Given the description of an element on the screen output the (x, y) to click on. 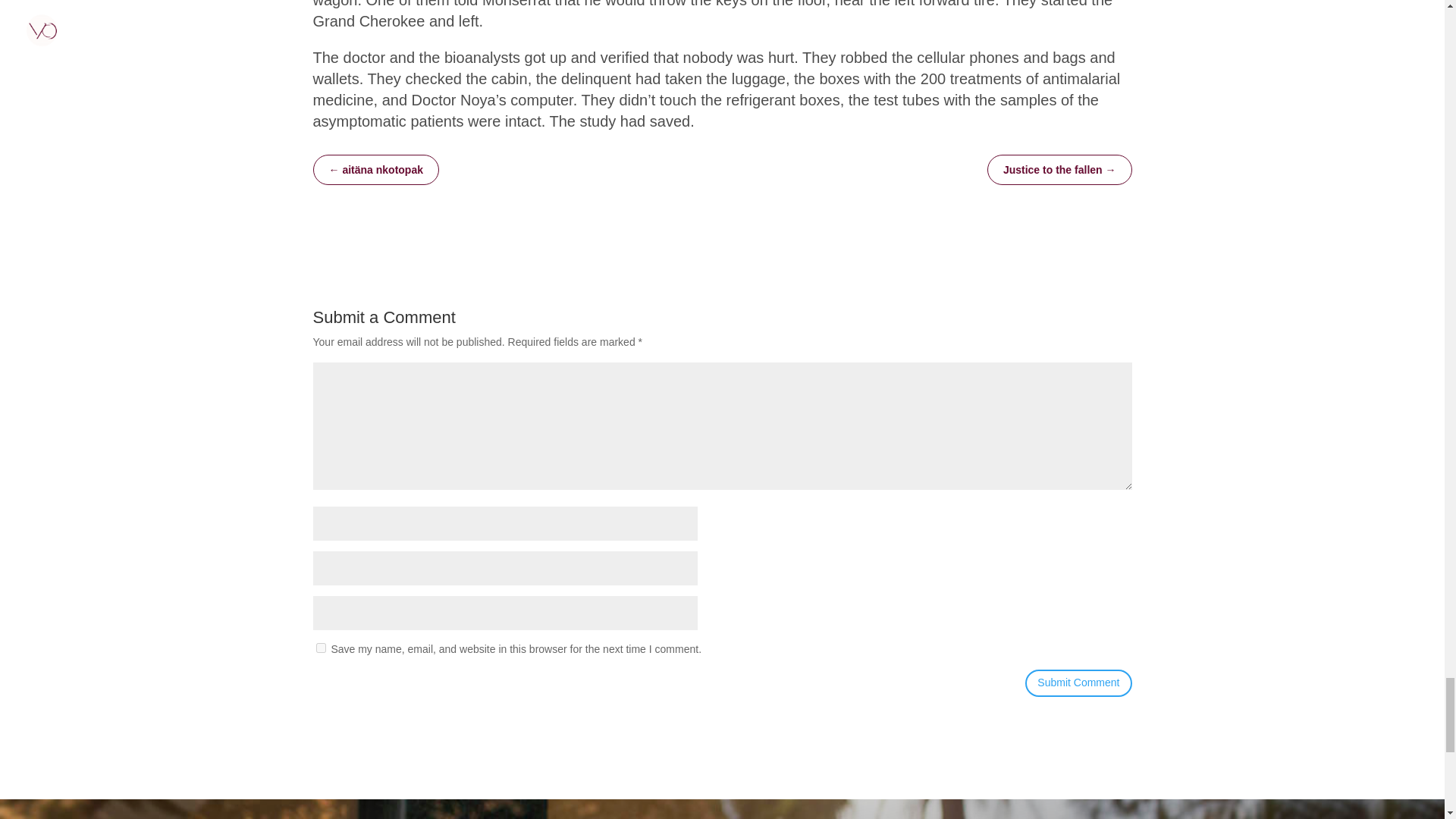
Submit Comment (1078, 682)
yes (319, 647)
Submit Comment (1078, 682)
